Given the description of an element on the screen output the (x, y) to click on. 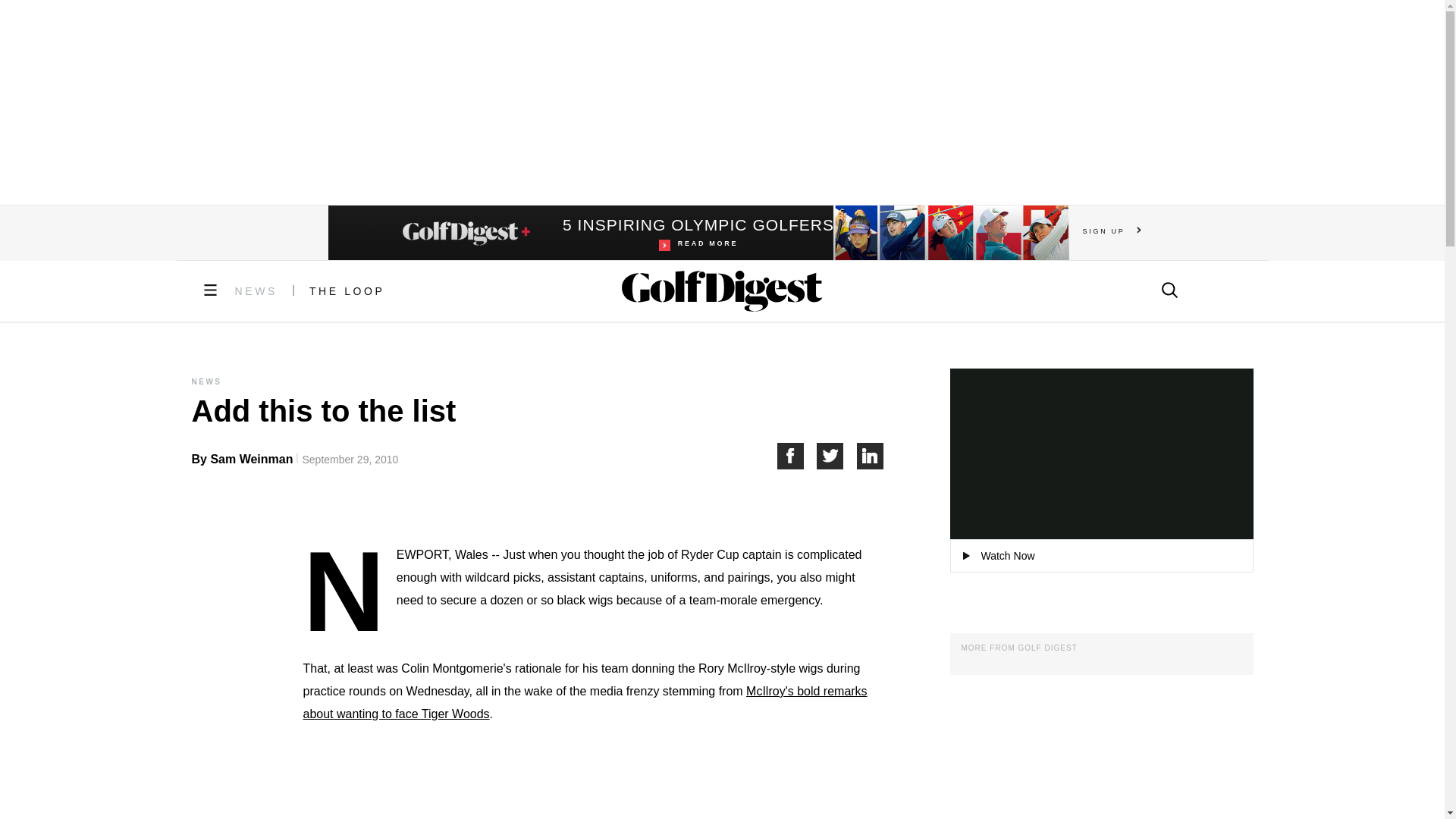
Share on Twitter (836, 456)
SIGN UP (1112, 230)
NEWS (256, 291)
Share on Facebook (796, 456)
THE LOOP (346, 291)
Share on LinkedIn (870, 456)
